Given the description of an element on the screen output the (x, y) to click on. 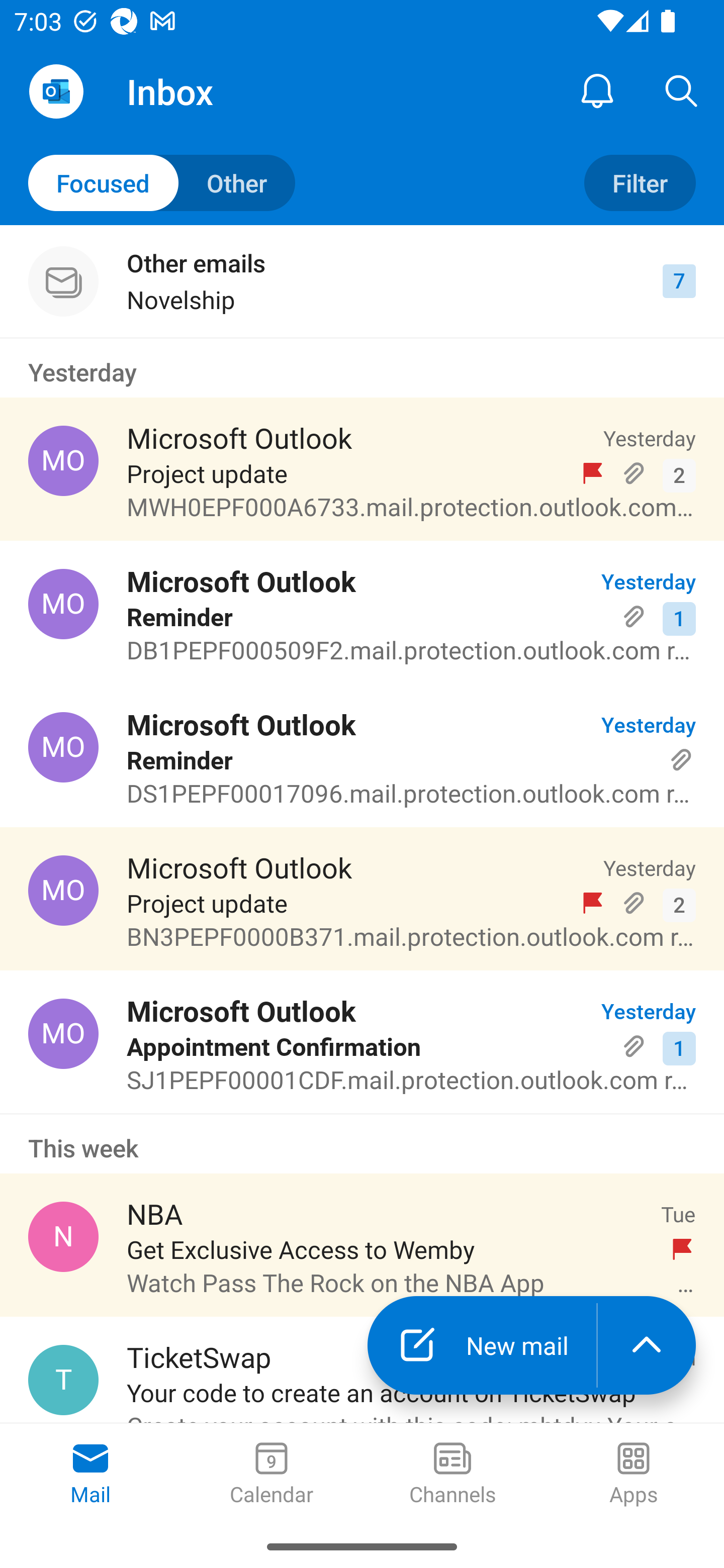
Notification Center (597, 90)
Search, ,  (681, 90)
Open Navigation Drawer (55, 91)
Toggle to other mails (161, 183)
Filter (639, 183)
Other emails Novelship 7 (362, 281)
NBA, NBA@email.nba.com (63, 1236)
New mail (481, 1344)
launch the extended action menu (646, 1344)
TicketSwap, info@ticketswap.com (63, 1380)
Calendar (271, 1474)
Channels (452, 1474)
Apps (633, 1474)
